Given the description of an element on the screen output the (x, y) to click on. 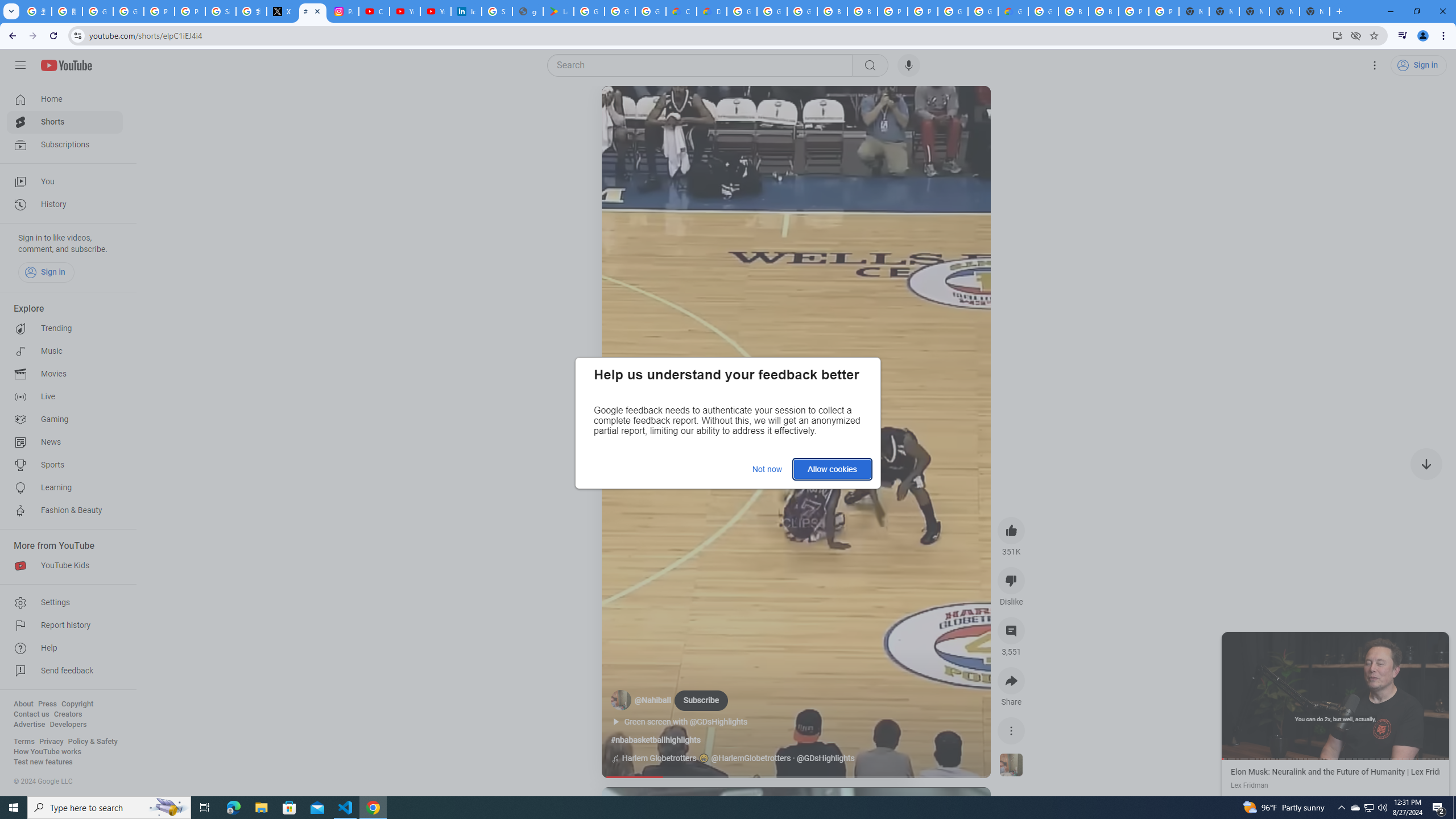
Sign in - Google Accounts (496, 11)
@Nahiball (653, 700)
Learning (64, 487)
YouTube Home (66, 65)
Policy & Safety (91, 741)
Dislike this video (1011, 580)
Search with your voice (908, 65)
Copyright (77, 703)
Movies (64, 373)
